Given the description of an element on the screen output the (x, y) to click on. 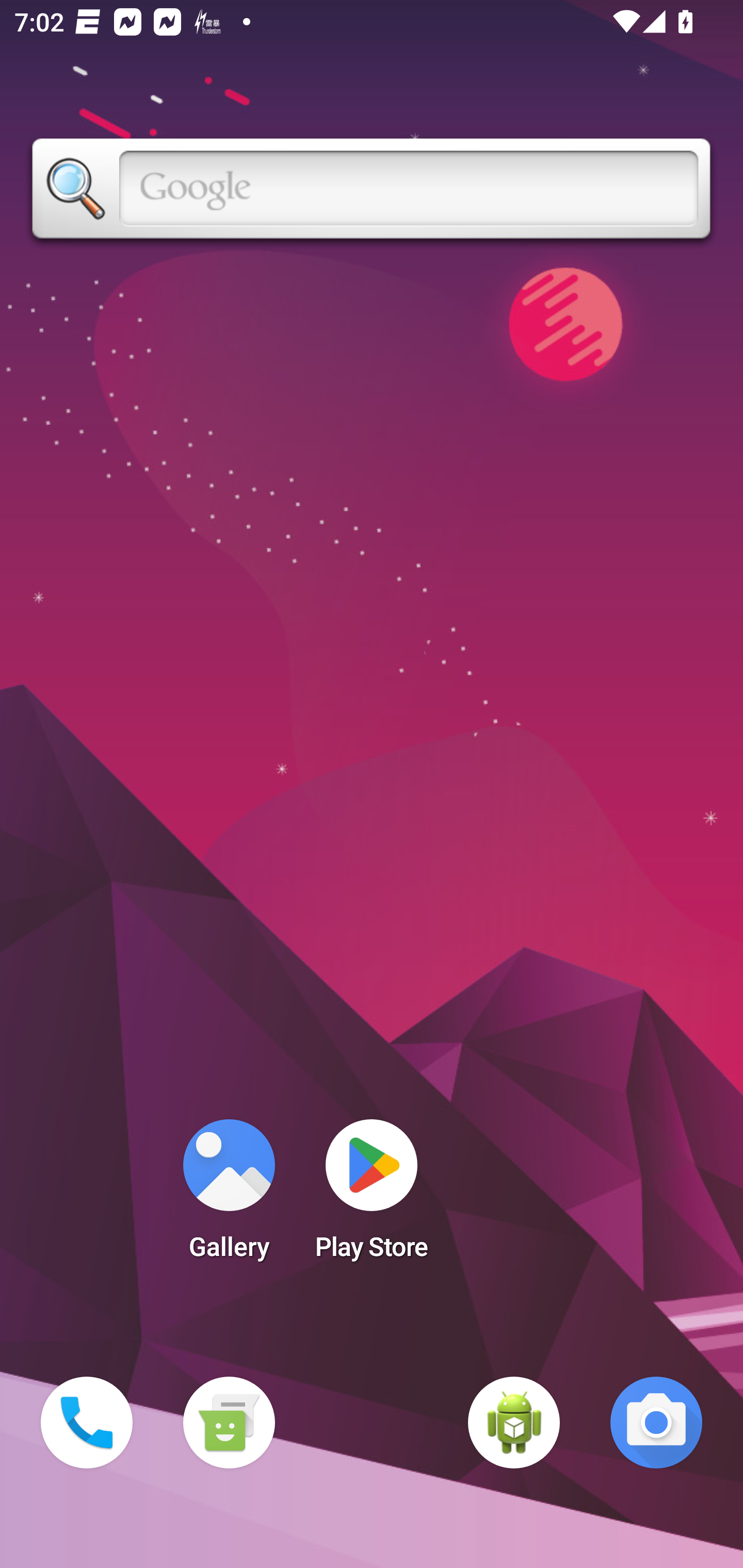
Gallery (228, 1195)
Play Store (371, 1195)
Phone (86, 1422)
Messaging (228, 1422)
WebView Browser Tester (513, 1422)
Camera (656, 1422)
